Given the description of an element on the screen output the (x, y) to click on. 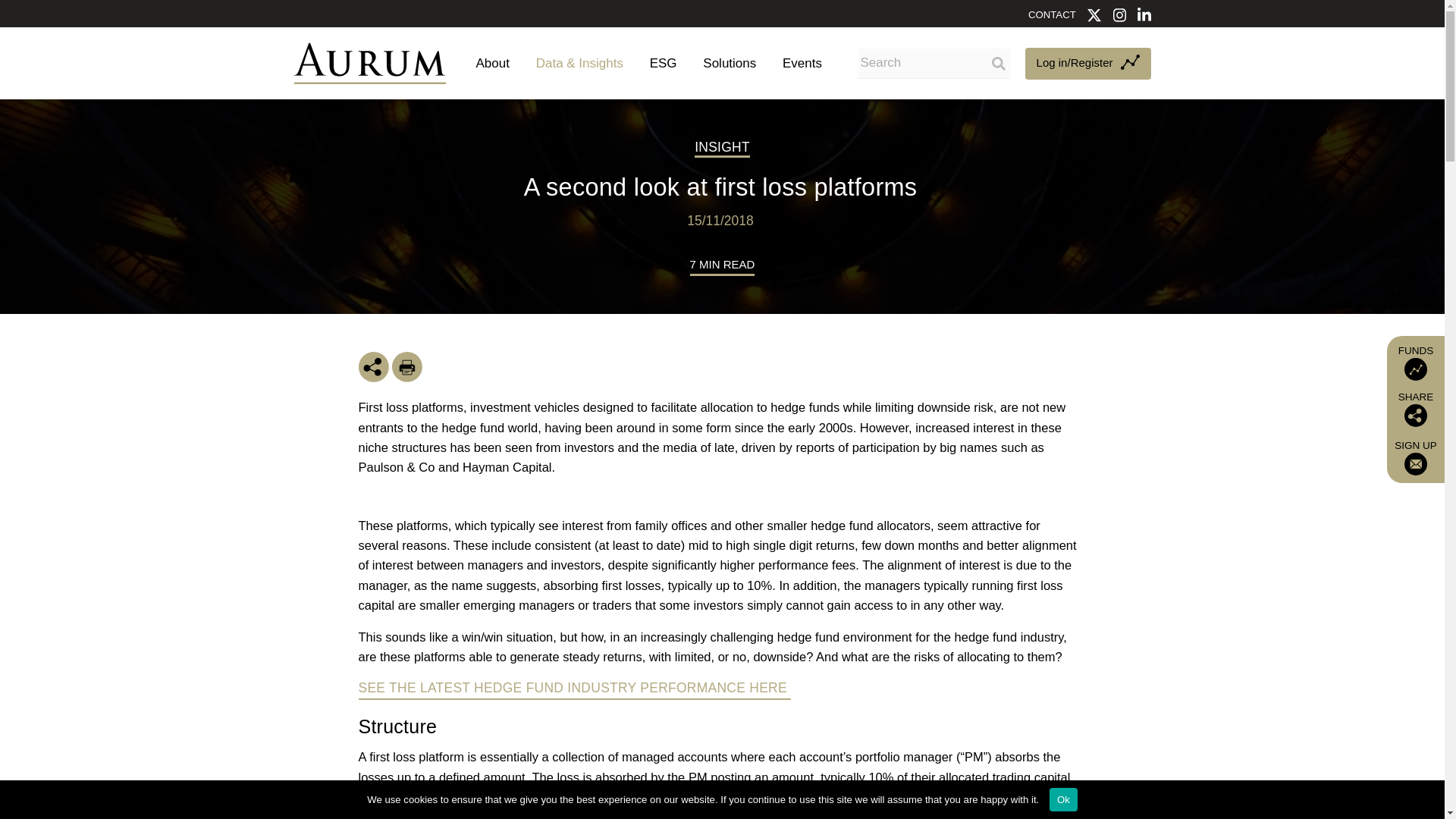
About (492, 62)
Events (798, 62)
SIGN UP (1415, 457)
FUNDS (1415, 362)
Solutions (728, 62)
ESG (663, 62)
SEE THE LATEST HEDGE FUND INDUSTRY PERFORMANCE HERE  (574, 687)
CONTACT (1051, 14)
